Given the description of an element on the screen output the (x, y) to click on. 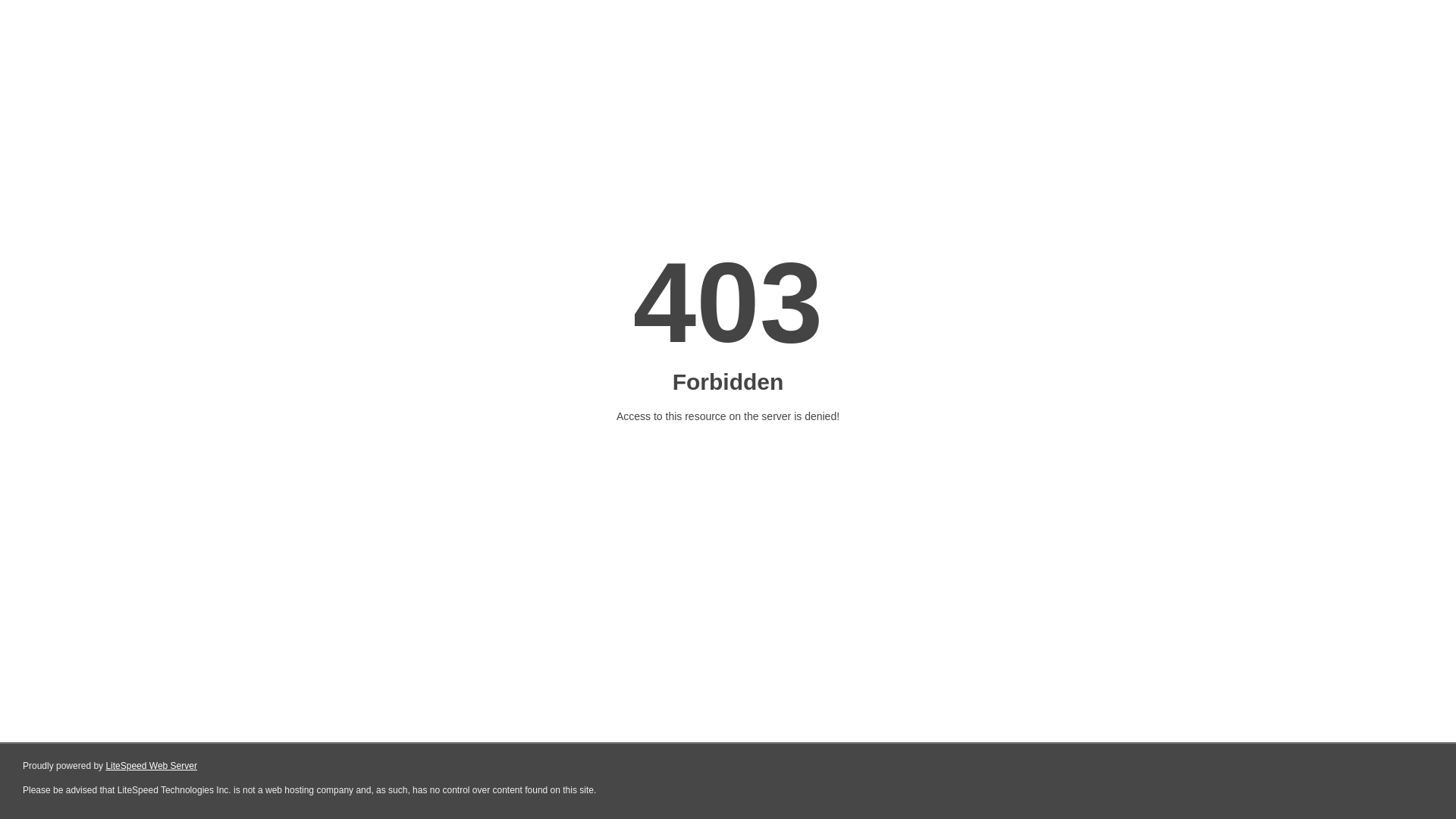
LiteSpeed Web Server Element type: text (151, 765)
